Given the description of an element on the screen output the (x, y) to click on. 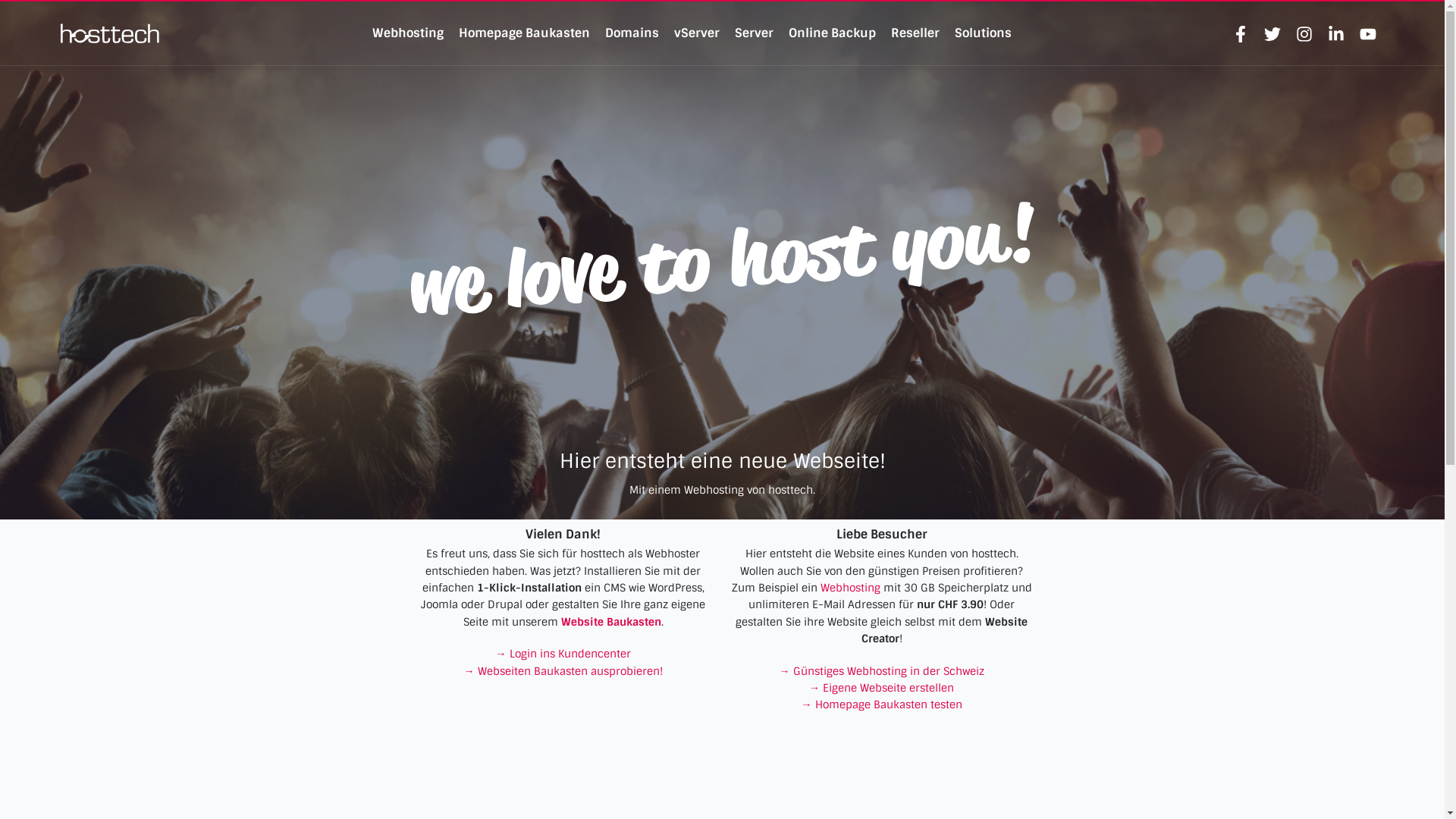
Webhosting Element type: text (407, 32)
Domains Element type: text (631, 32)
Online Backup Element type: text (831, 32)
Homepage Baukasten Element type: text (523, 32)
Website Baukasten Element type: text (611, 621)
Server Element type: text (753, 32)
Reseller Element type: text (915, 32)
Solutions Element type: text (982, 32)
vServer Element type: text (696, 32)
Webhosting Element type: text (850, 587)
